Given the description of an element on the screen output the (x, y) to click on. 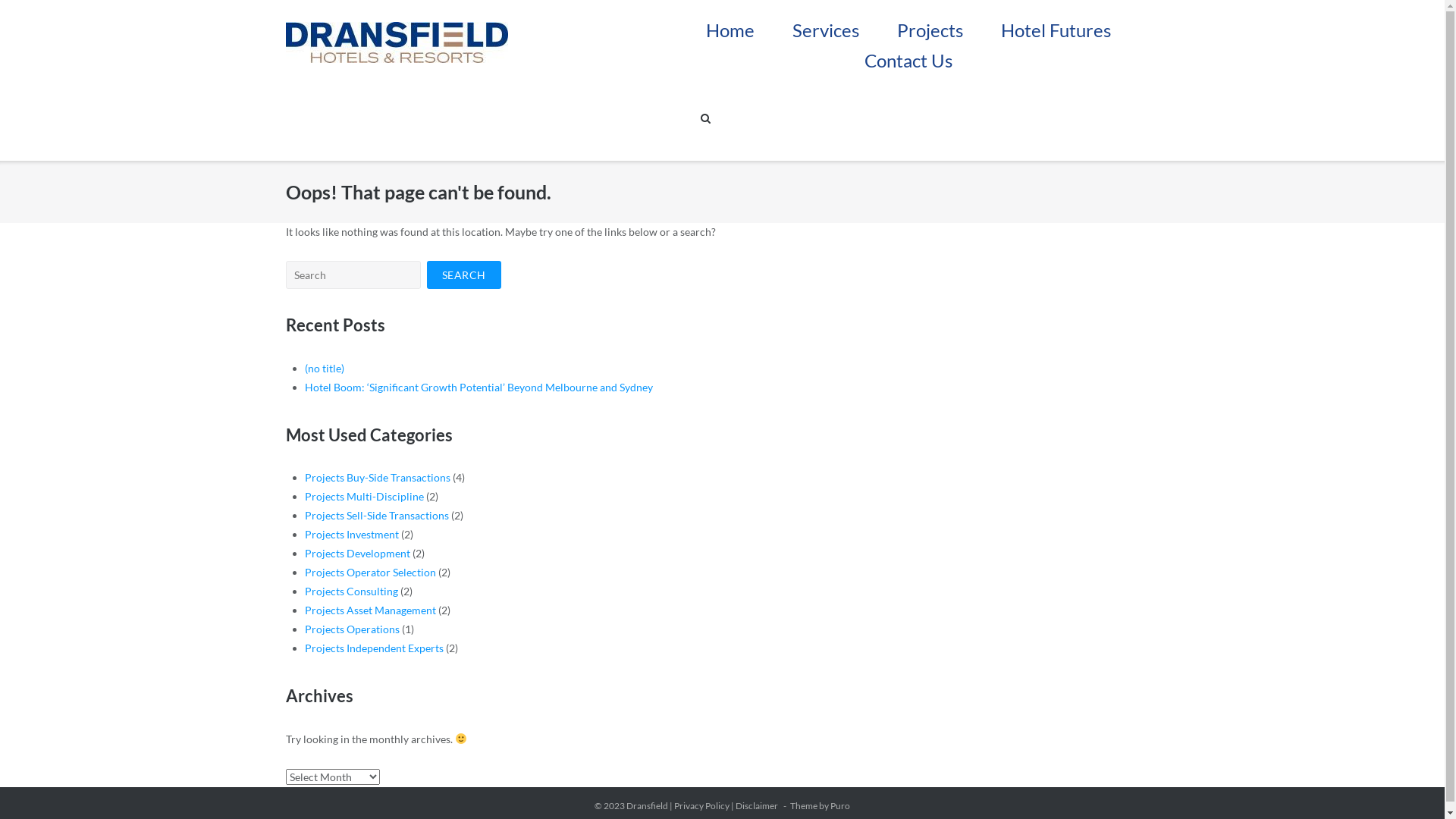
Home Element type: text (730, 22)
Projects Asset Management Element type: text (370, 609)
Contact Us Element type: text (908, 52)
Projects Operator Selection Element type: text (370, 571)
Projects Operations Element type: text (351, 628)
Projects Consulting Element type: text (351, 590)
(no title) Element type: text (324, 367)
Projects Element type: text (929, 22)
Projects Investment Element type: text (351, 533)
Projects Development Element type: text (357, 552)
Search Element type: text (463, 274)
Projects Independent Experts Element type: text (373, 647)
Puro Element type: text (840, 805)
Hotel Futures Element type: text (1055, 22)
Projects Sell-Side Transactions Element type: text (376, 514)
Dransfield Element type: text (647, 805)
Services Element type: text (825, 22)
Projects Buy-Side Transactions Element type: text (377, 476)
Projects Multi-Discipline Element type: text (363, 495)
